Given the description of an element on the screen output the (x, y) to click on. 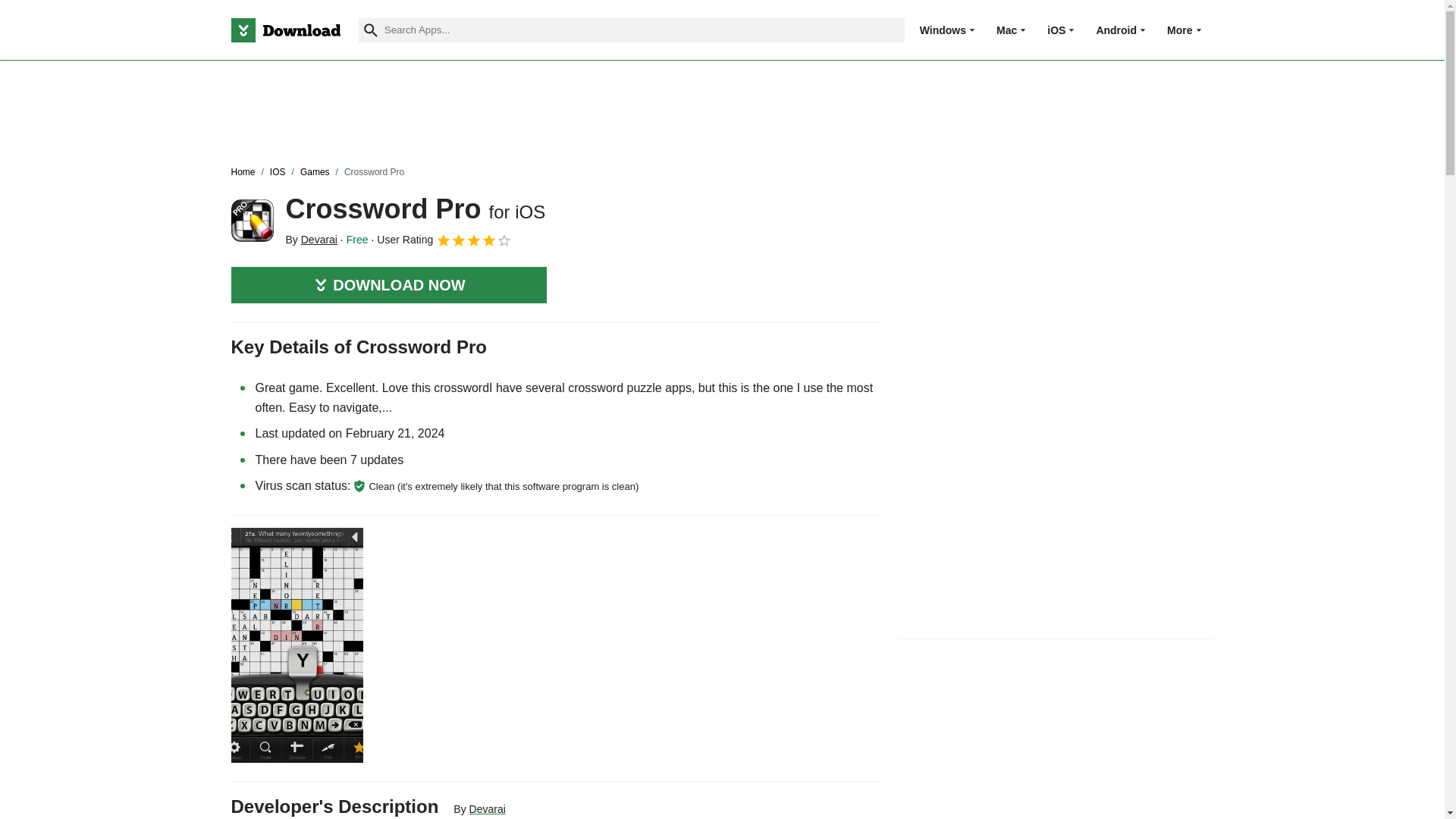
Windows (943, 29)
Mac (1005, 29)
Crossword Pro for iOS (251, 220)
